Given the description of an element on the screen output the (x, y) to click on. 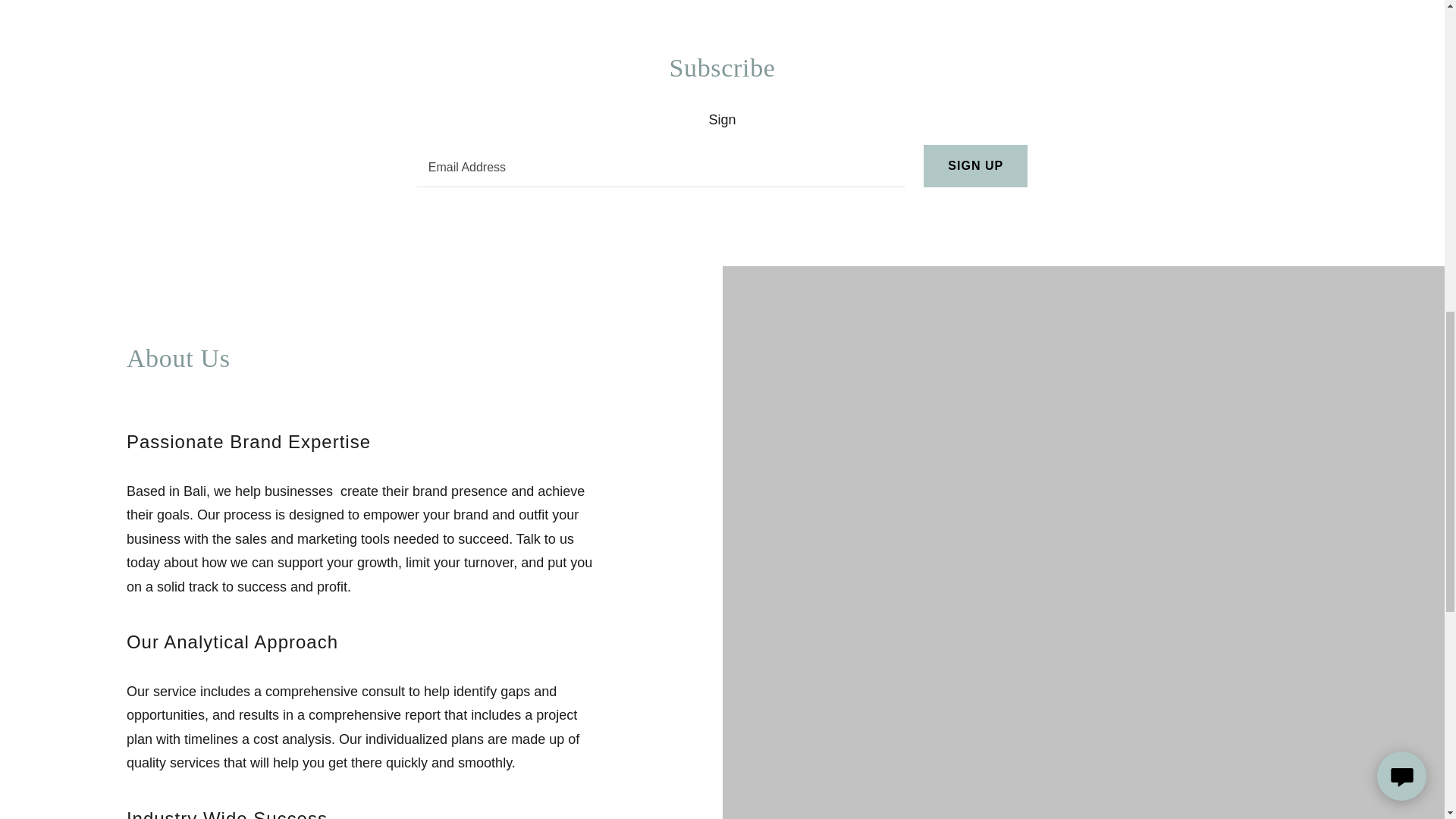
SIGN UP (975, 165)
